Given the description of an element on the screen output the (x, y) to click on. 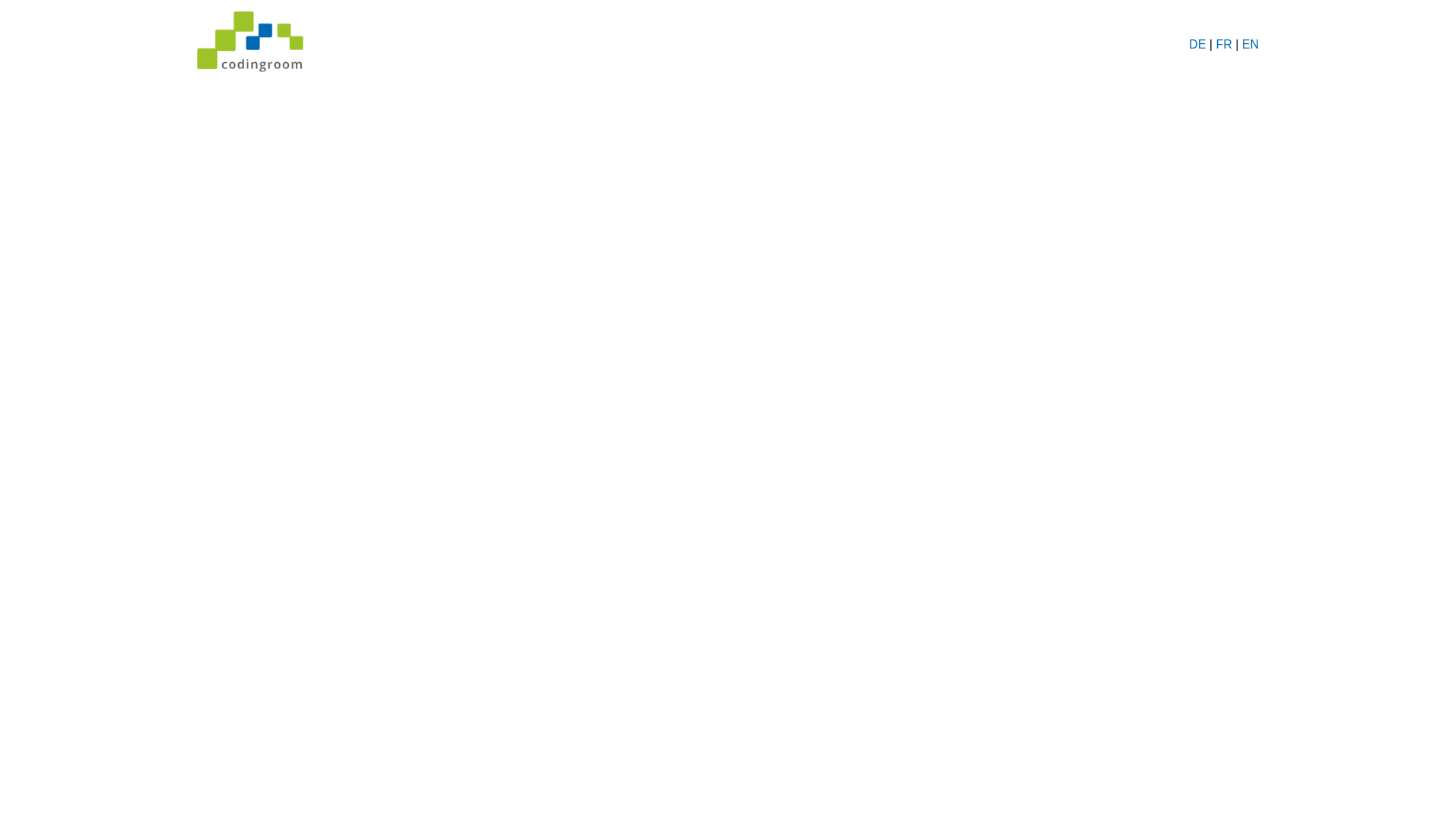
EN Element type: text (1250, 43)
FR Element type: text (1223, 43)
DE Element type: text (1197, 43)
